Given the description of an element on the screen output the (x, y) to click on. 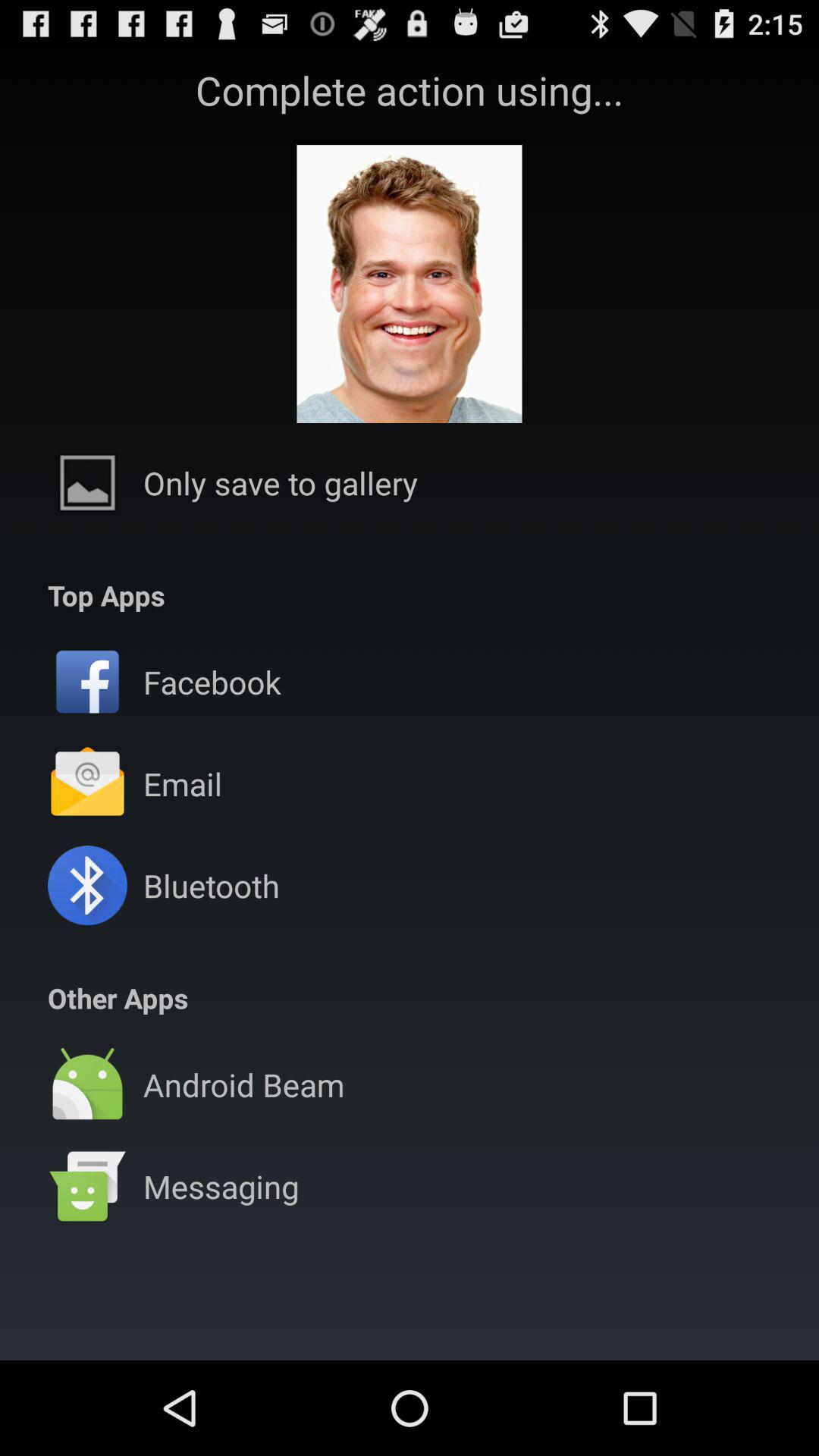
scroll until facebook item (211, 681)
